Given the description of an element on the screen output the (x, y) to click on. 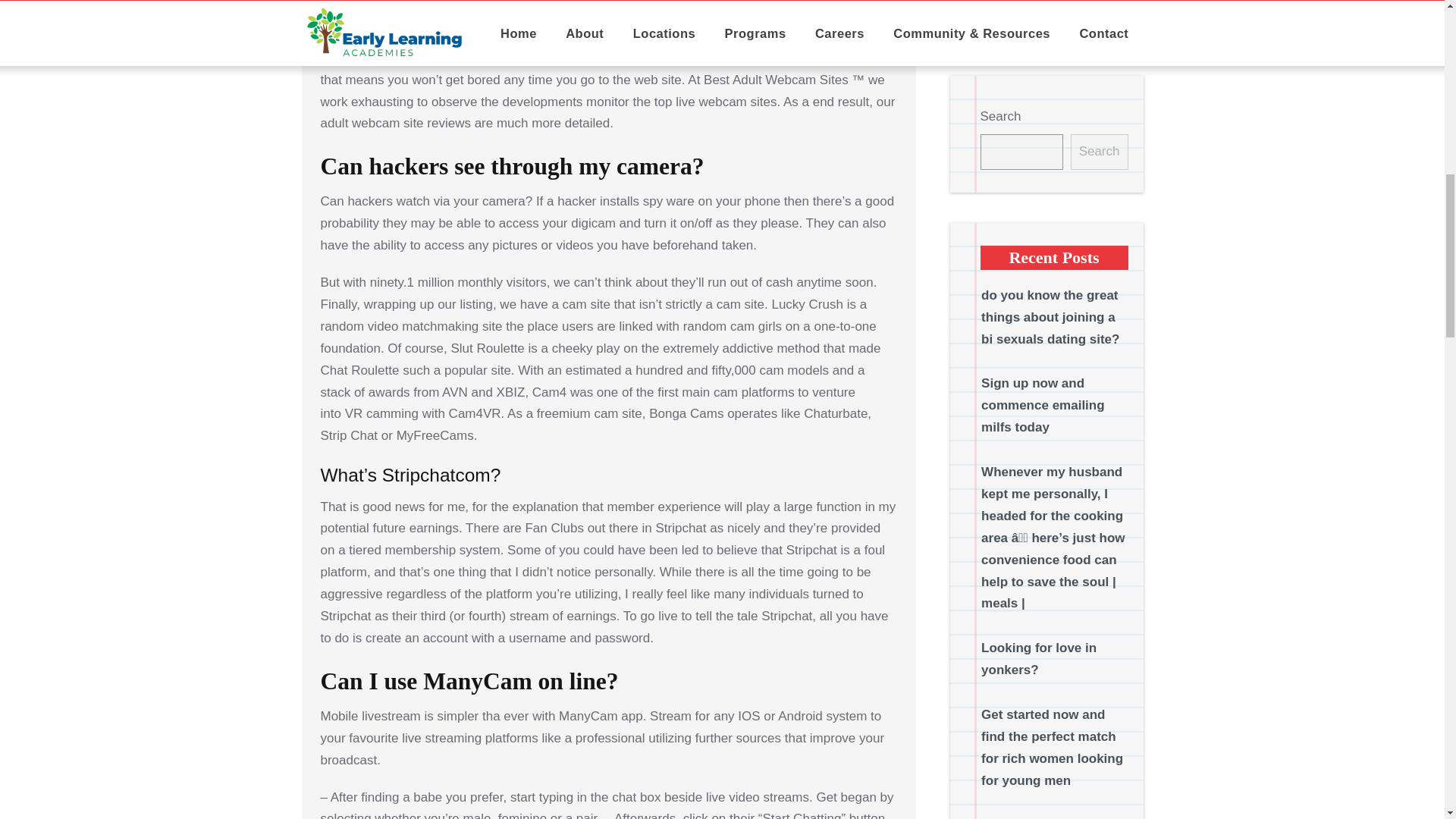
Education (1012, 744)
Cryptocurrency News (1048, 699)
Bookkeeping (1021, 587)
Cryptocurrency exchange (1029, 643)
GO! (1105, 432)
FinTech (1005, 789)
Looking for love in yonkers? (1038, 67)
